Given the description of an element on the screen output the (x, y) to click on. 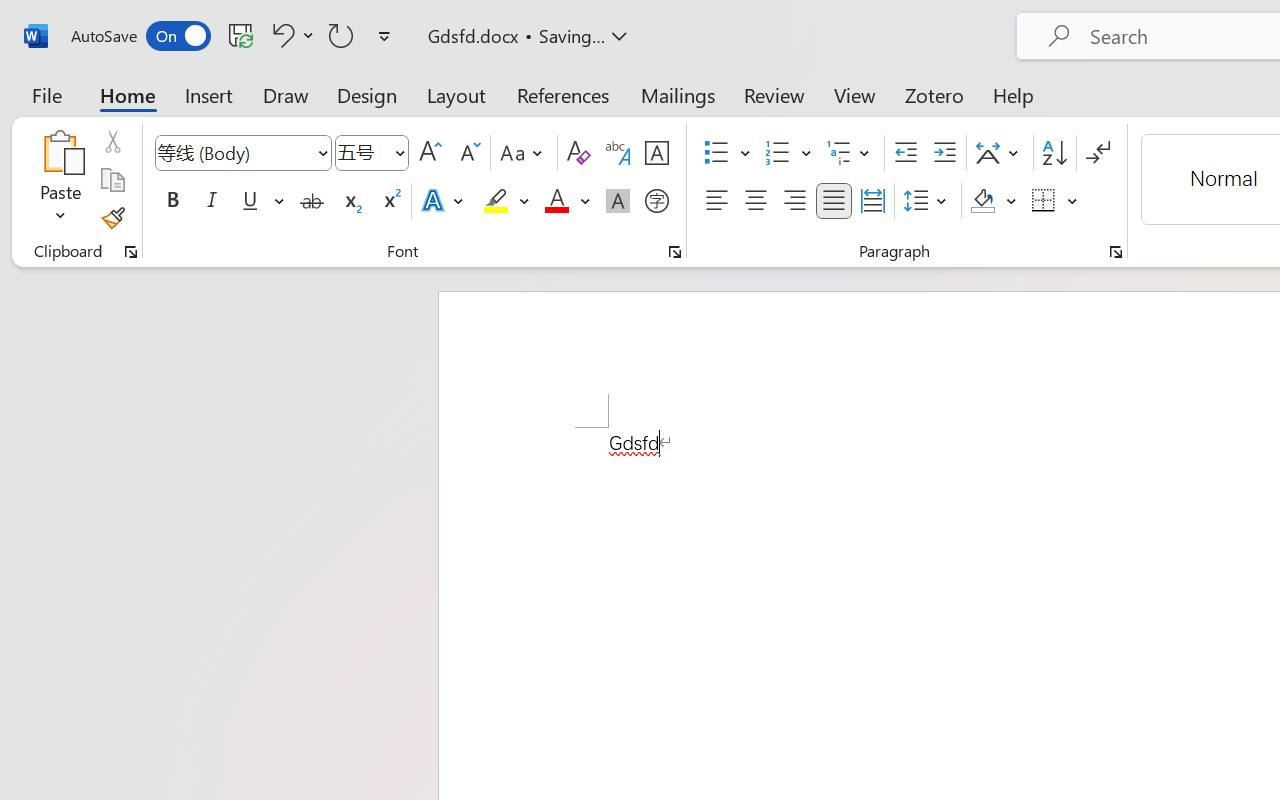
Italic (212, 201)
Font Color (567, 201)
Font... (675, 252)
Phonetic Guide... (618, 153)
Shading RGB(0, 0, 0) (982, 201)
